Given the description of an element on the screen output the (x, y) to click on. 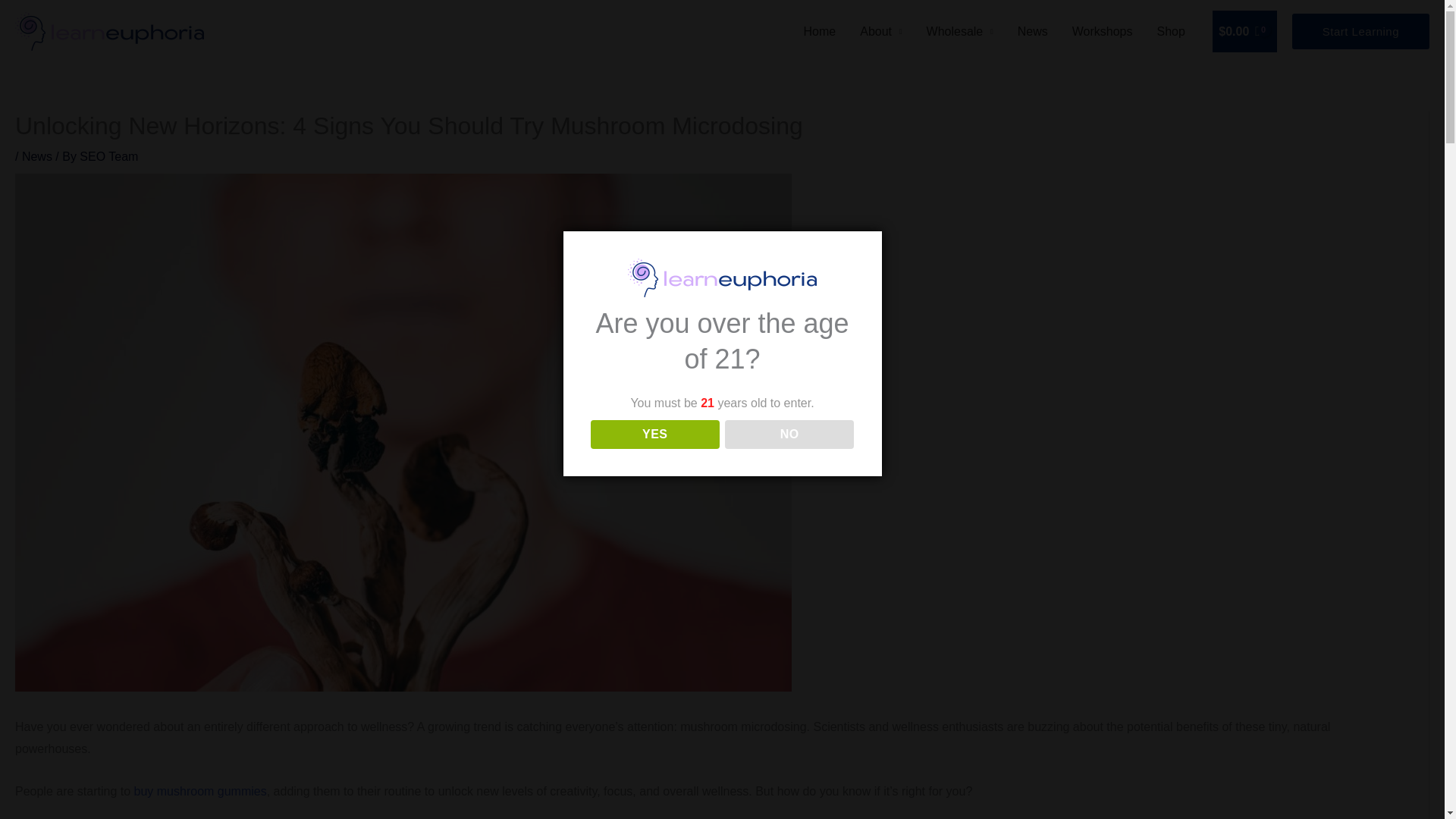
Home (820, 30)
News (1032, 30)
About (880, 30)
View all posts by SEO Team (109, 155)
Wholesale (960, 30)
Workshops (1101, 30)
Start Learning (1360, 31)
Shop (1170, 30)
